Given the description of an element on the screen output the (x, y) to click on. 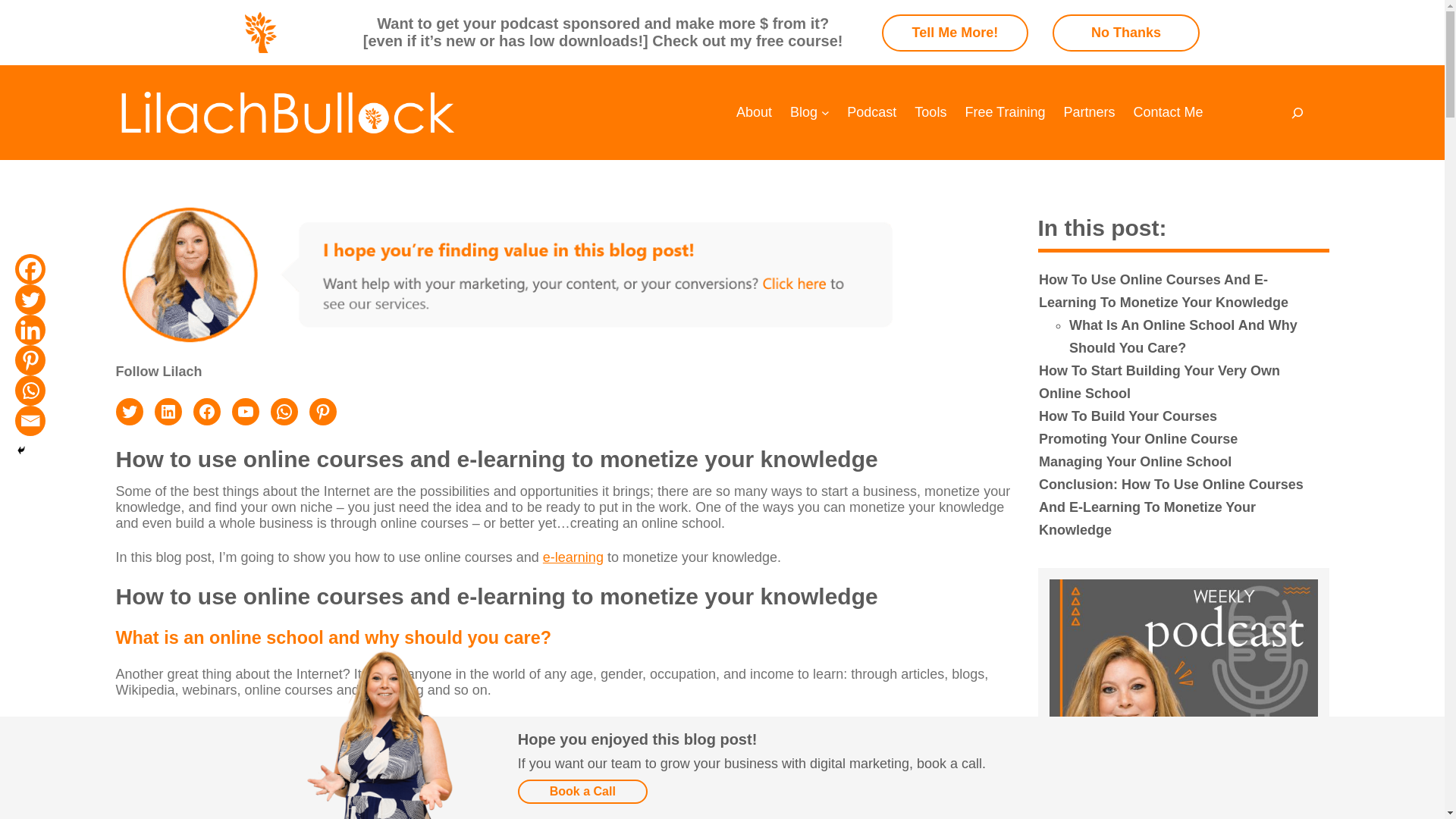
Twitter (29, 299)
Facebook (29, 268)
About (753, 112)
Free Training (1004, 112)
Pinterest (29, 359)
Blog (803, 112)
No Thanks (1125, 31)
Whatsapp (29, 390)
Partners (1088, 112)
Email (29, 420)
Linkedin (29, 329)
Tell Me More! (955, 31)
Tools (930, 112)
Hide (20, 450)
Podcast (871, 112)
